Given the description of an element on the screen output the (x, y) to click on. 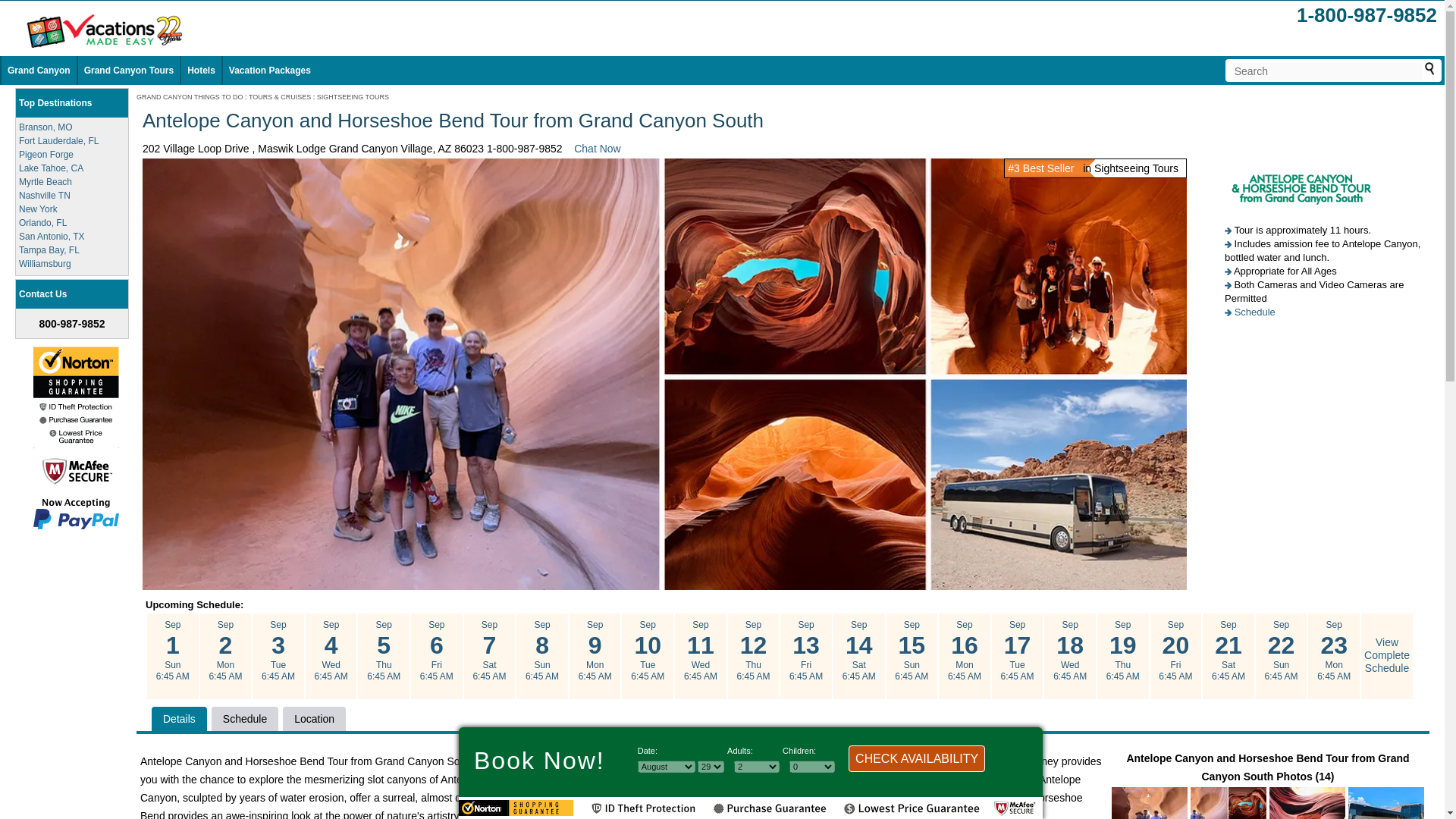
Chat Now (596, 148)
Grand Canyon (38, 70)
Pigeon Forge (46, 154)
Schedule (1254, 311)
Hotels (201, 70)
View Complete Schedule (1386, 655)
Nashville TN (43, 195)
SIGHTSEEING TOURS (352, 96)
Tampa Bay, FL (49, 249)
GRAND CANYON THINGS TO DO (189, 96)
